Given the description of an element on the screen output the (x, y) to click on. 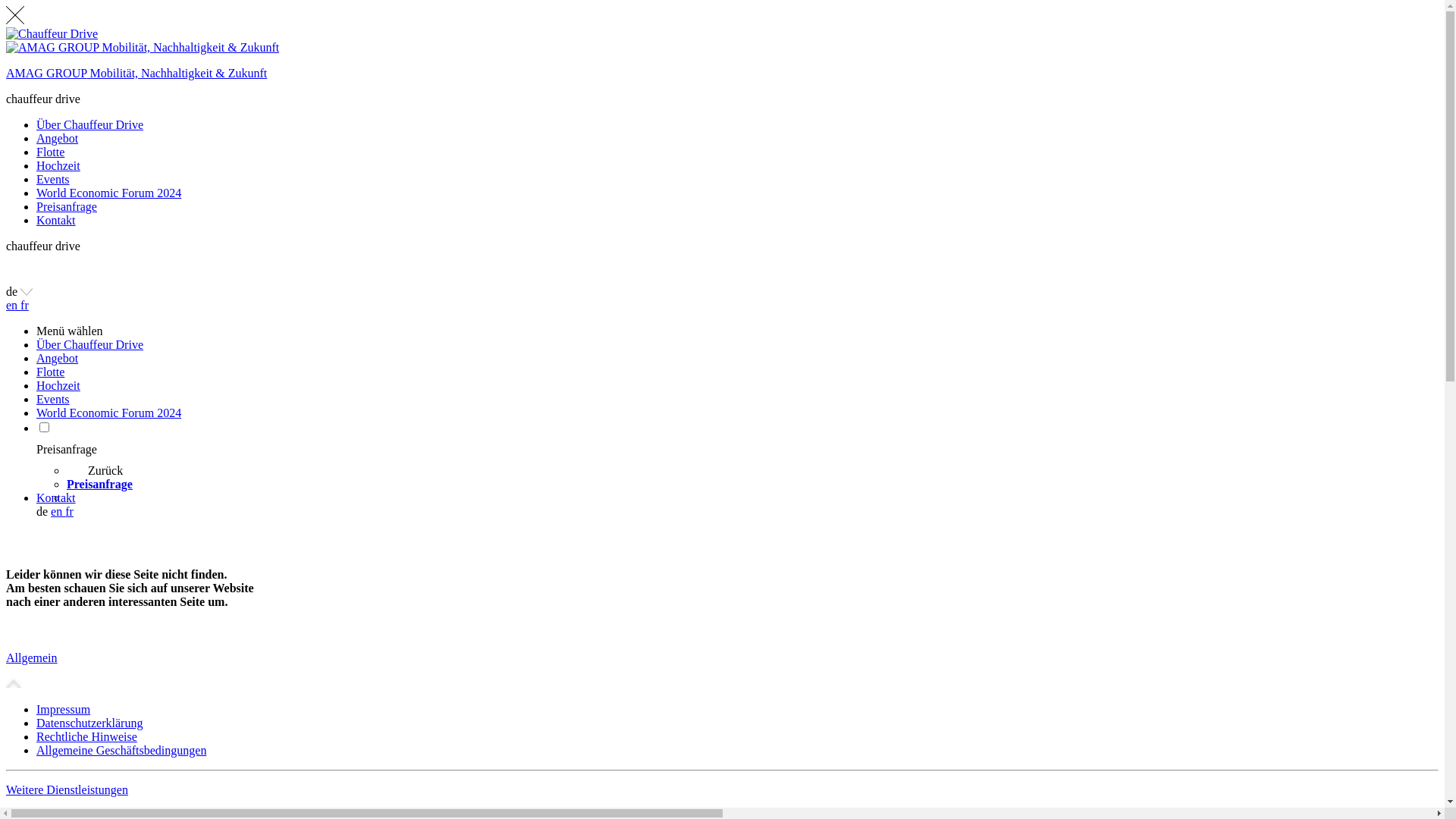
Events Element type: text (52, 178)
Kontakt Element type: text (55, 219)
Flotte Element type: text (50, 151)
Hochzeit Element type: text (737, 385)
World Economic Forum 2024 Element type: text (737, 413)
de Element type: text (41, 511)
Rechtliche Hinweise Element type: text (86, 736)
Allgemein Element type: text (722, 670)
Impressum Element type: text (63, 708)
World Economic Forum 2024 Element type: text (108, 192)
fr Element type: text (24, 304)
fr Element type: text (69, 511)
de Element type: text (19, 291)
Events Element type: text (737, 399)
Preisanfrage Element type: text (66, 206)
Angebot Element type: text (57, 137)
Preisanfrage Element type: text (752, 484)
en Element type: text (57, 511)
Angebot Element type: text (737, 358)
Kontakt Element type: text (737, 498)
Flotte Element type: text (737, 372)
Hochzeit Element type: text (58, 165)
en Element type: text (13, 304)
